Given the description of an element on the screen output the (x, y) to click on. 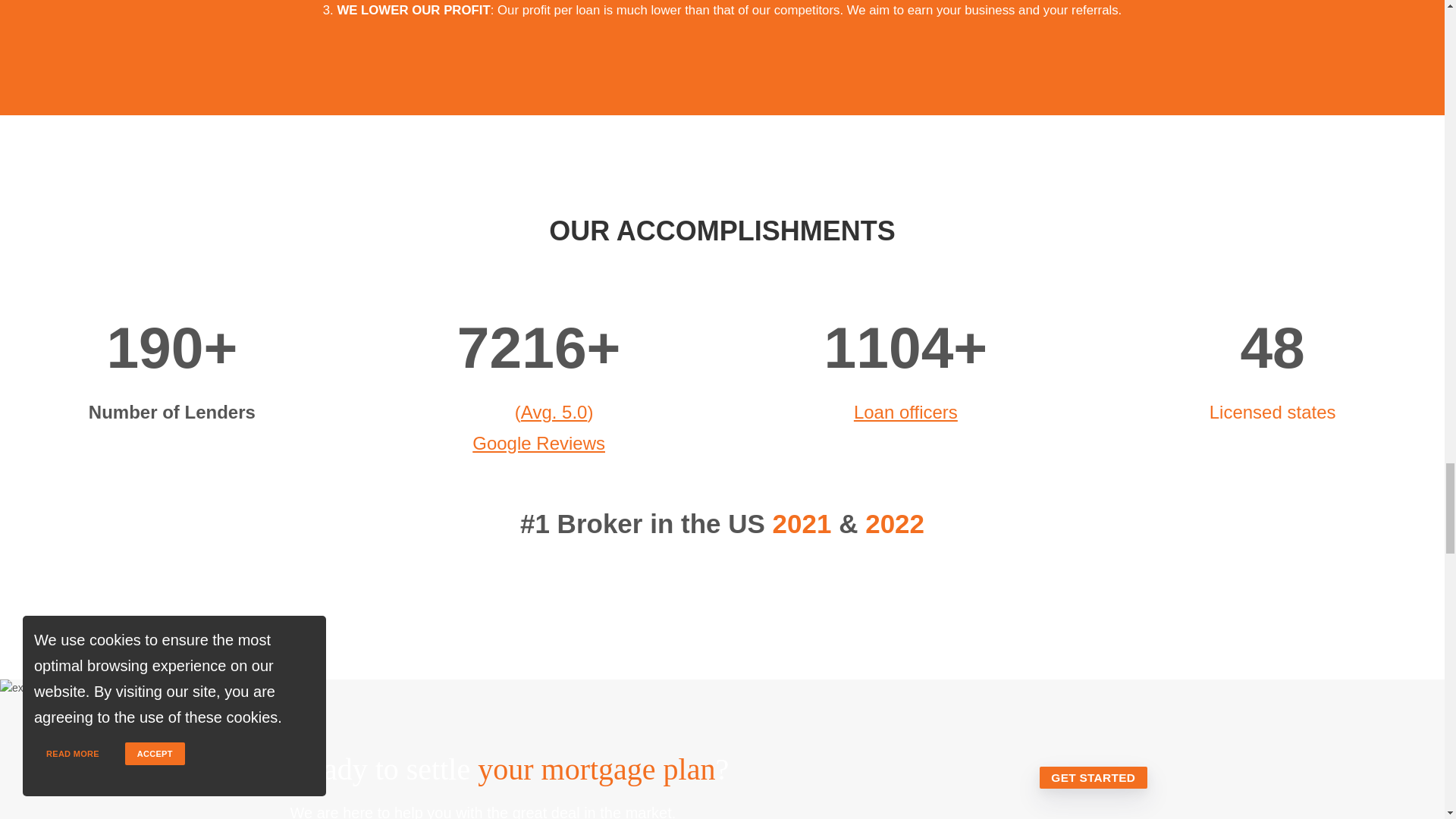
2022 (894, 523)
GET STARTED (1093, 777)
2021 (802, 523)
Licensed states (1272, 412)
Loan officers (905, 412)
